Given the description of an element on the screen output the (x, y) to click on. 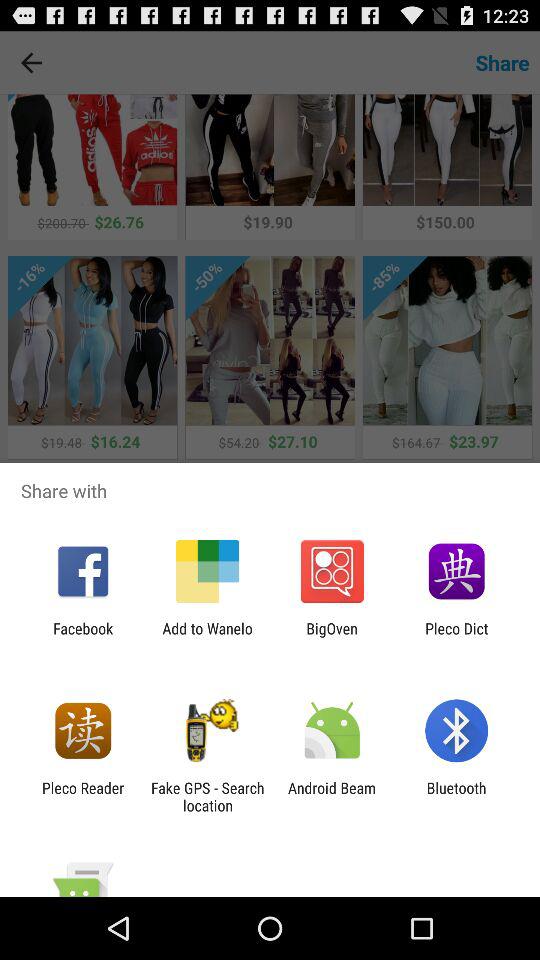
turn on the app to the left of fake gps search (83, 796)
